Given the description of an element on the screen output the (x, y) to click on. 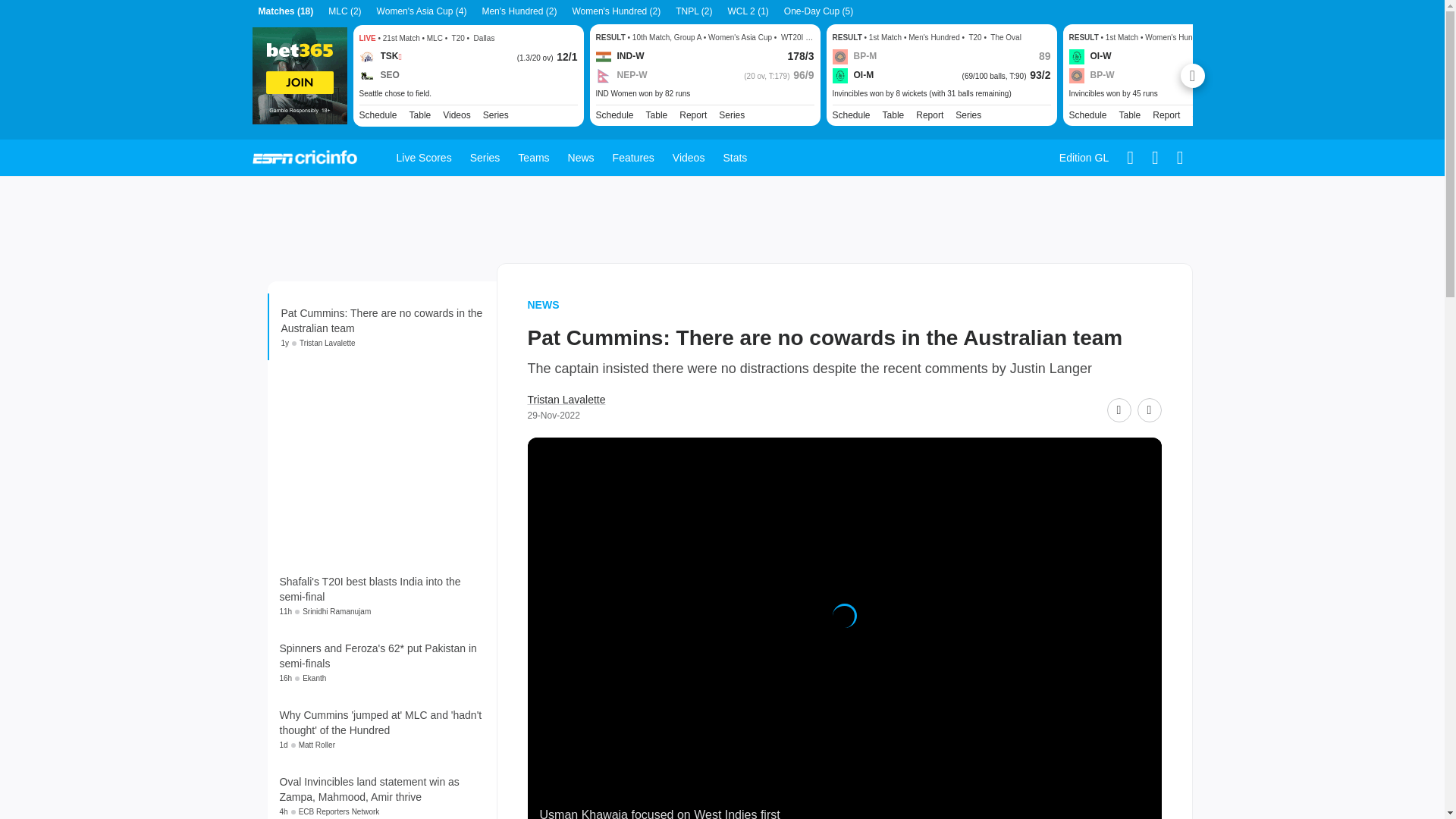
Women's Asia Cup (731, 115)
Series (731, 115)
Table (657, 115)
Schedule (378, 114)
IND Women won by 82 runs (704, 93)
Table (893, 115)
SEO (378, 75)
Table (419, 114)
TSK (380, 56)
Series (495, 114)
IND-W (620, 55)
Major League Cricket (495, 114)
Series (1204, 115)
Schedule (378, 114)
Table (657, 115)
